Given the description of an element on the screen output the (x, y) to click on. 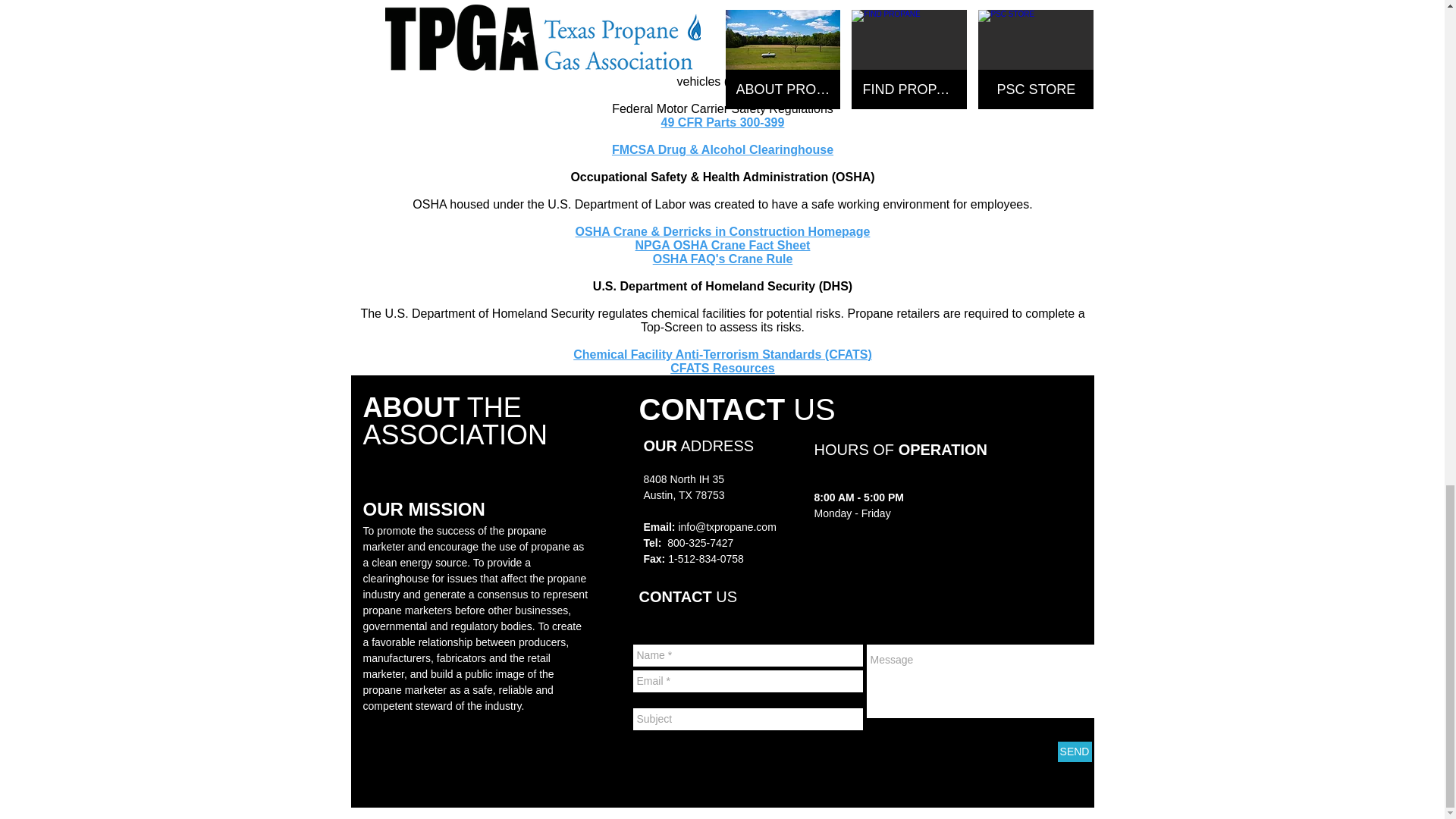
RIN Locator (722, 12)
RIN Fact Sheet (722, 2)
49 CFR Parts 300-399 (722, 122)
CFATS Resources (721, 367)
OSHA FAQ's Crane Rule (722, 258)
NPGA OSHA Crane Fact Sheet (722, 245)
